Given the description of an element on the screen output the (x, y) to click on. 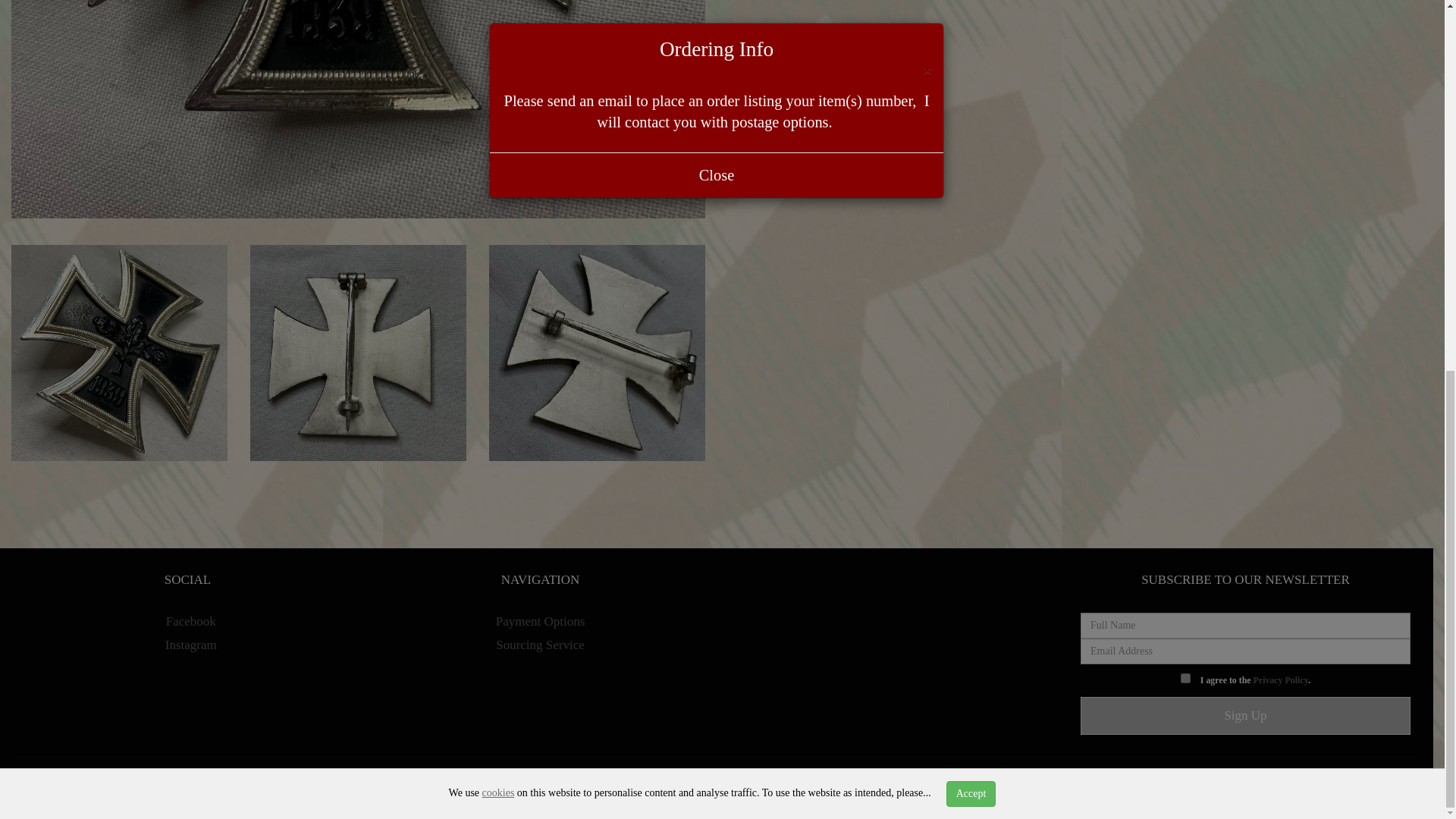
Privacy Policy (1280, 679)
Payment Options (540, 621)
  Facebook (186, 621)
cookies (498, 118)
  Instagram (186, 644)
Sourcing Service (540, 644)
Sign Up (1245, 715)
Accept (970, 119)
Privacy (696, 781)
Terms (741, 781)
on (1185, 678)
